Given the description of an element on the screen output the (x, y) to click on. 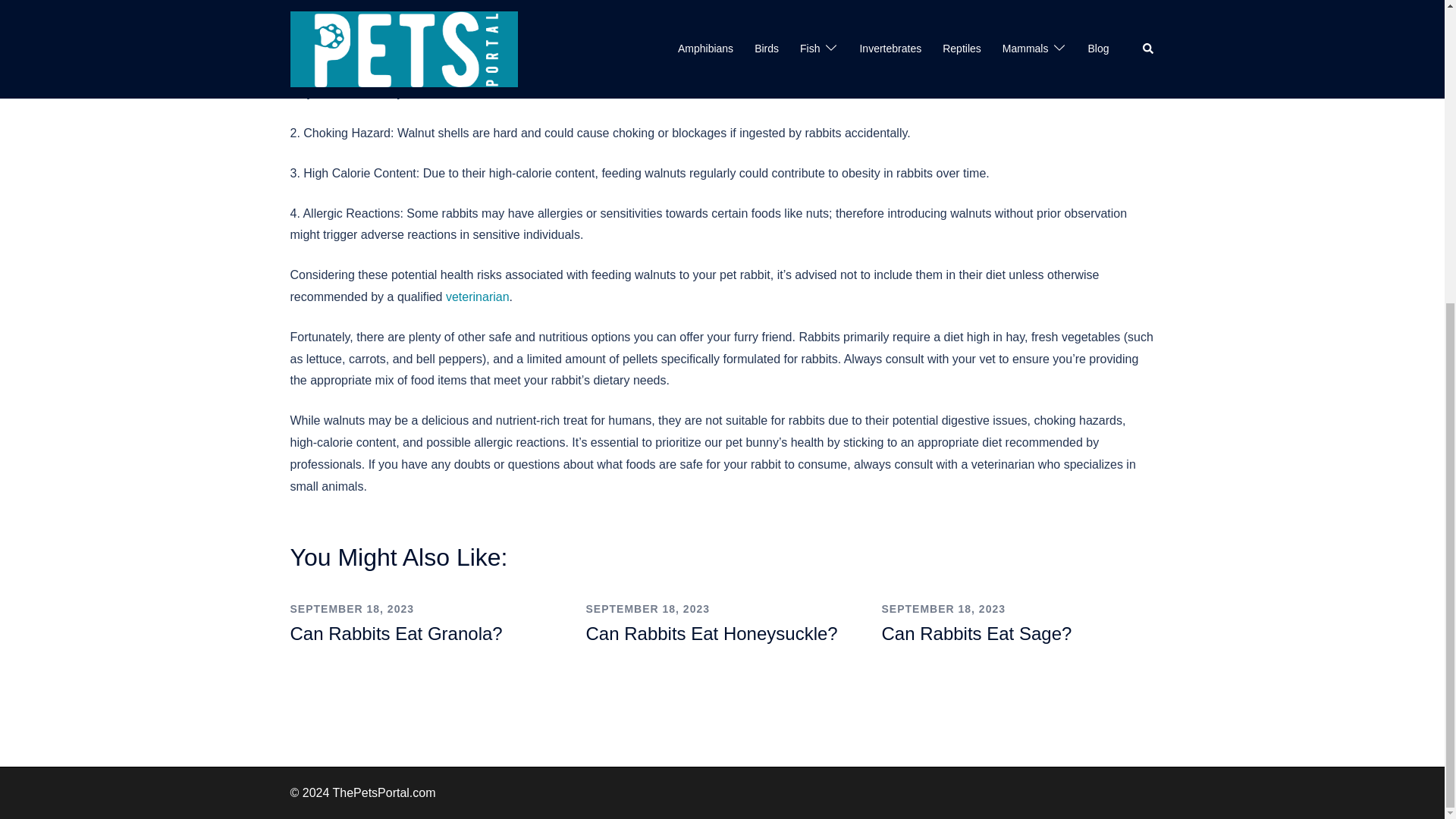
veterinarian (477, 296)
